Given the description of an element on the screen output the (x, y) to click on. 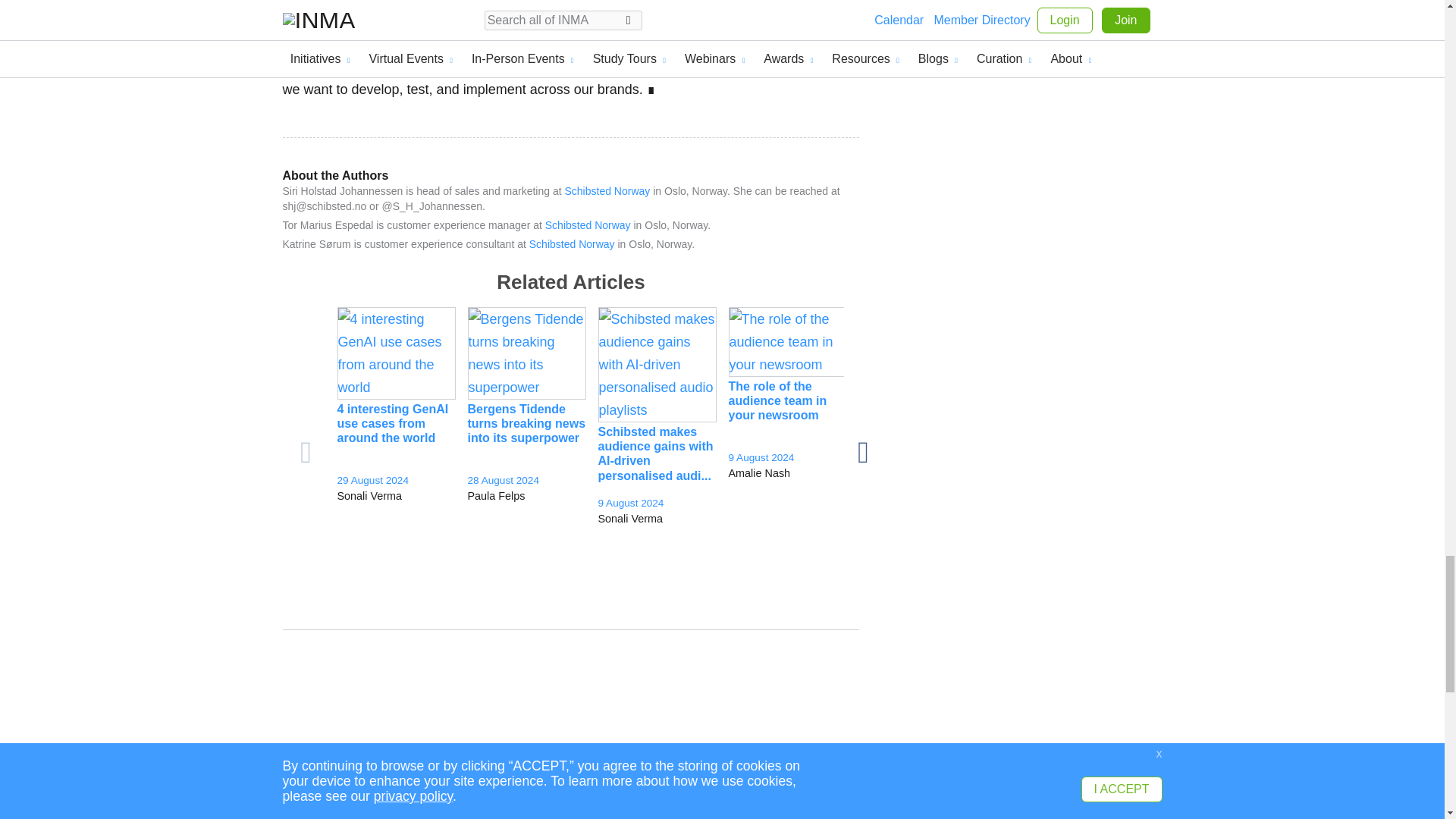
The role of the audience team in your newsroom  (786, 341)
Sonali Verma (395, 495)
Bergens Tidende turns breaking news into its superpower  (526, 353)
4 interesting GenAI use cases from around the world (395, 353)
Amalie Nash (786, 472)
Paula Felps (526, 495)
Sonali Verma (656, 518)
